Given the description of an element on the screen output the (x, y) to click on. 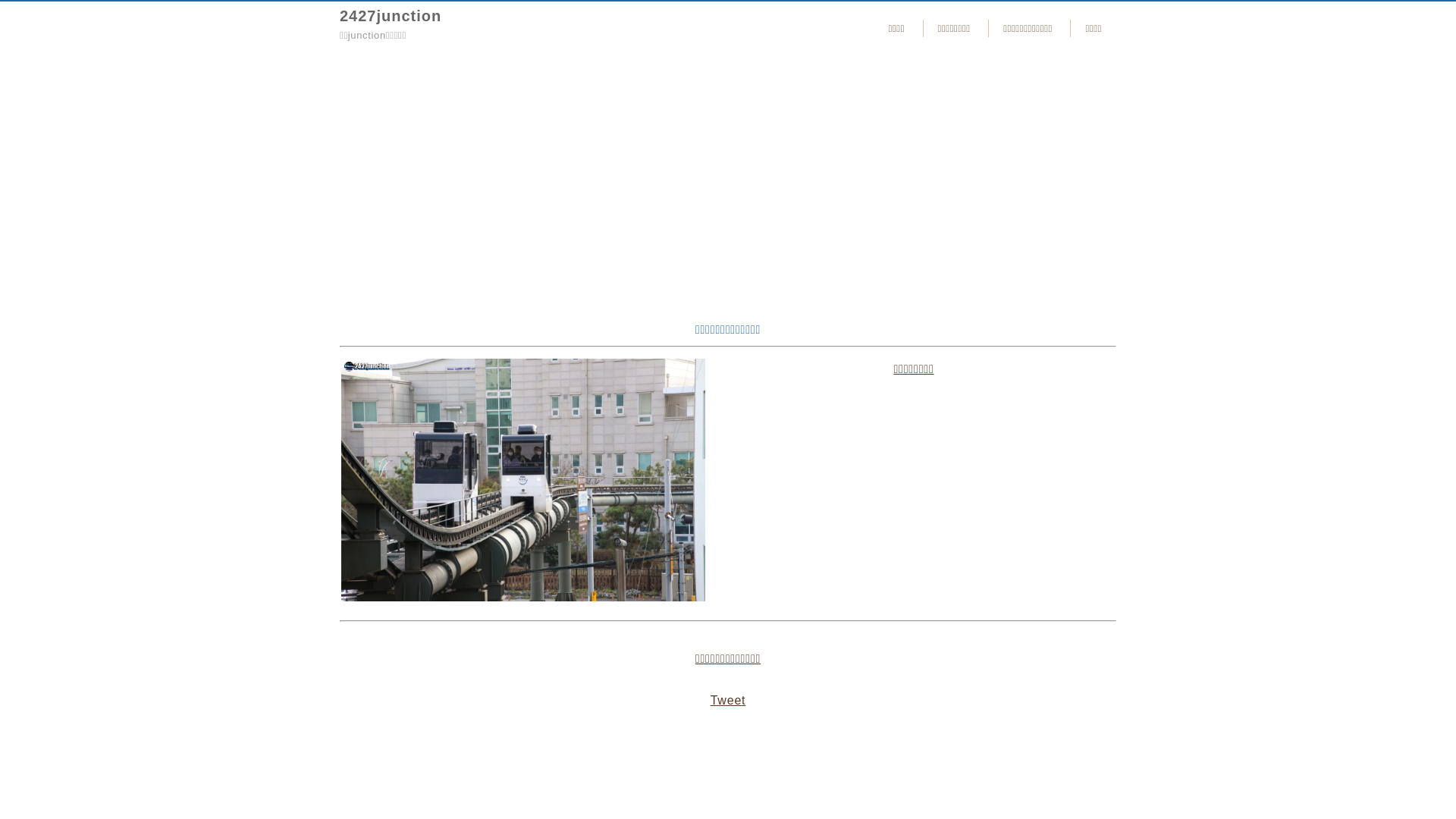
Tweet Element type: text (728, 699)
2427junction Element type: text (390, 15)
Advertisement Element type: hover (728, 181)
